Given the description of an element on the screen output the (x, y) to click on. 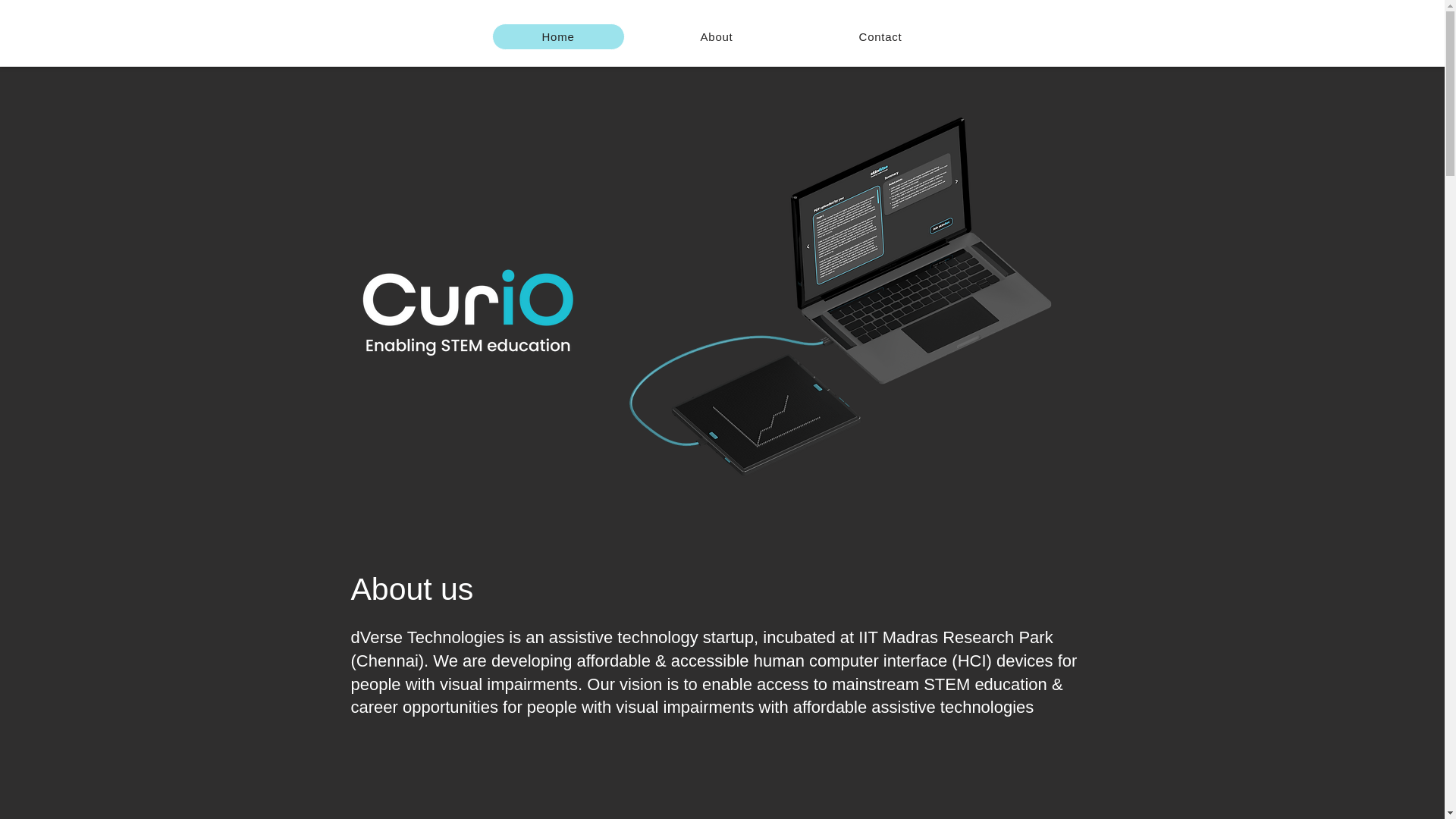
Contact (880, 36)
About (716, 36)
Home (558, 36)
